Given the description of an element on the screen output the (x, y) to click on. 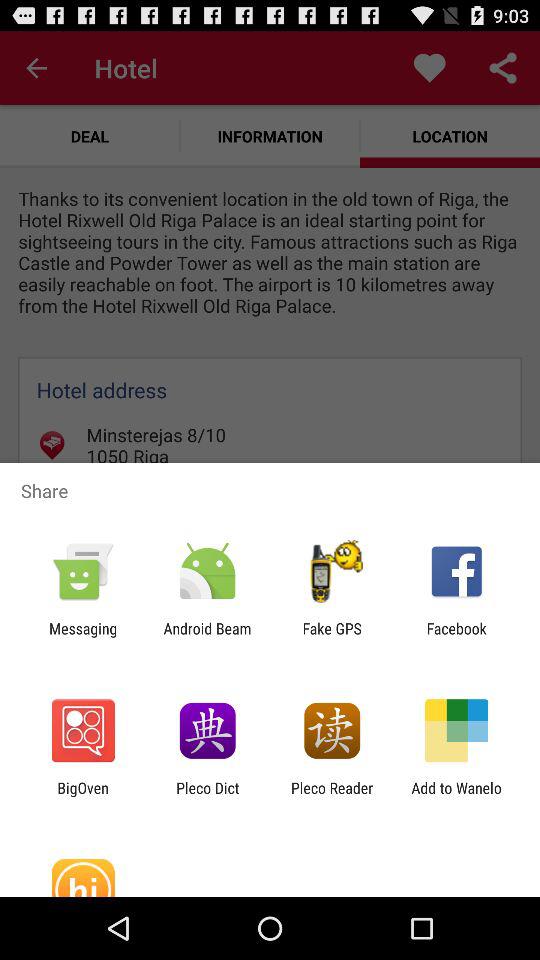
turn on the app next to bigoven item (207, 796)
